Given the description of an element on the screen output the (x, y) to click on. 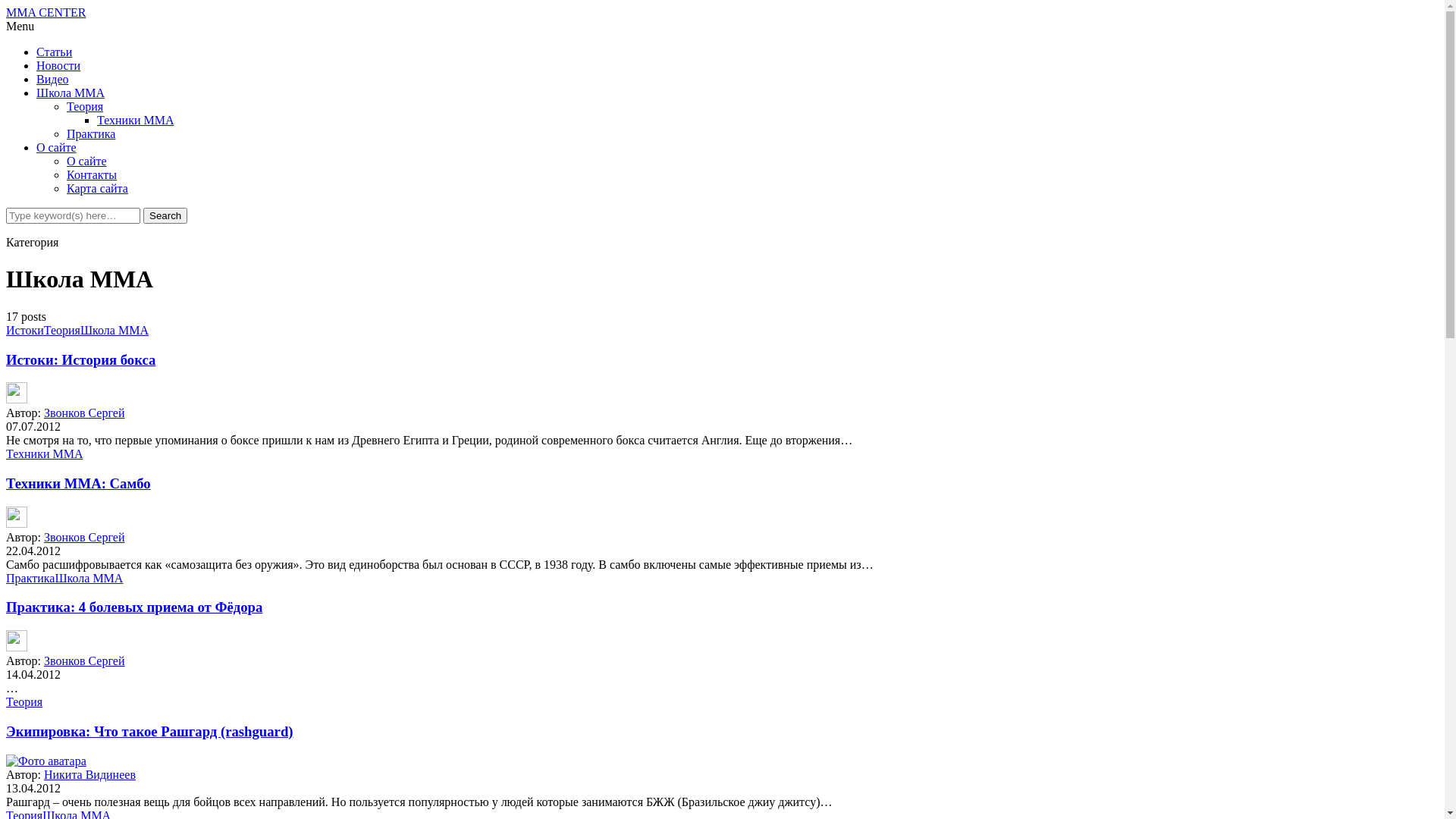
Search Element type: text (165, 215)
MMA CENTER Element type: text (45, 12)
